Given the description of an element on the screen output the (x, y) to click on. 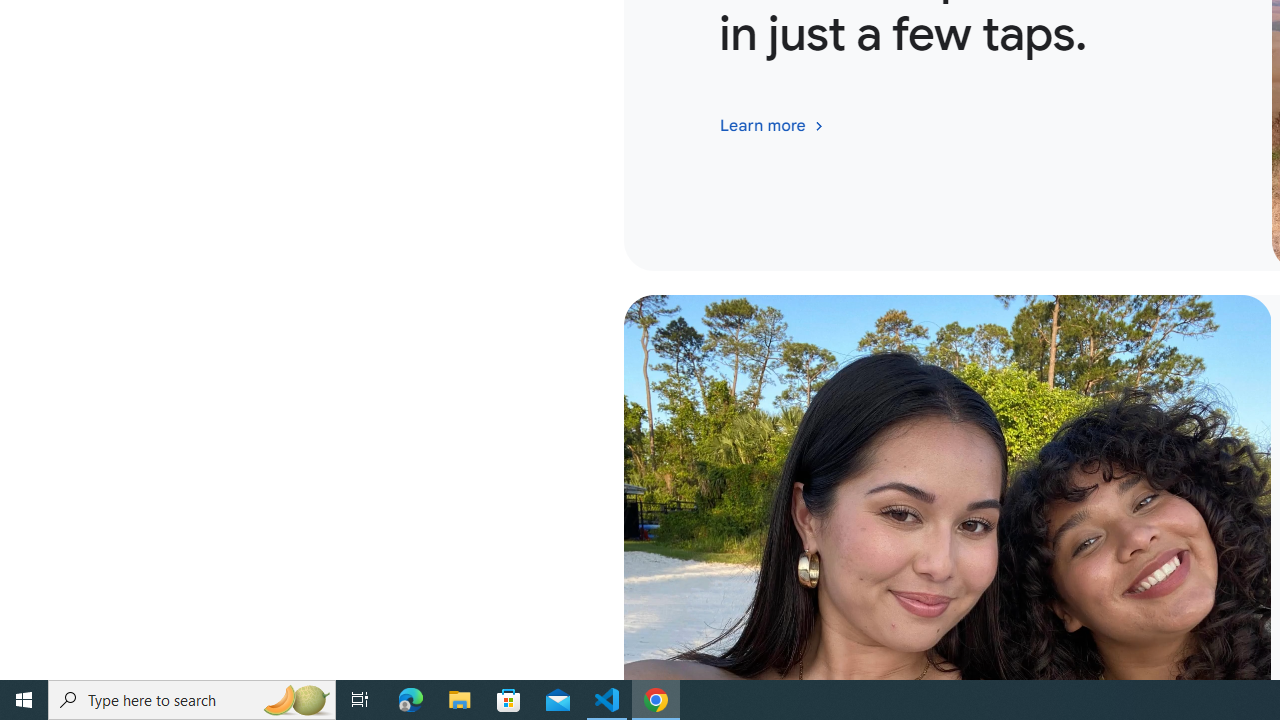
Explore the Magic Editor feature in Google Photos (771, 126)
